Given the description of an element on the screen output the (x, y) to click on. 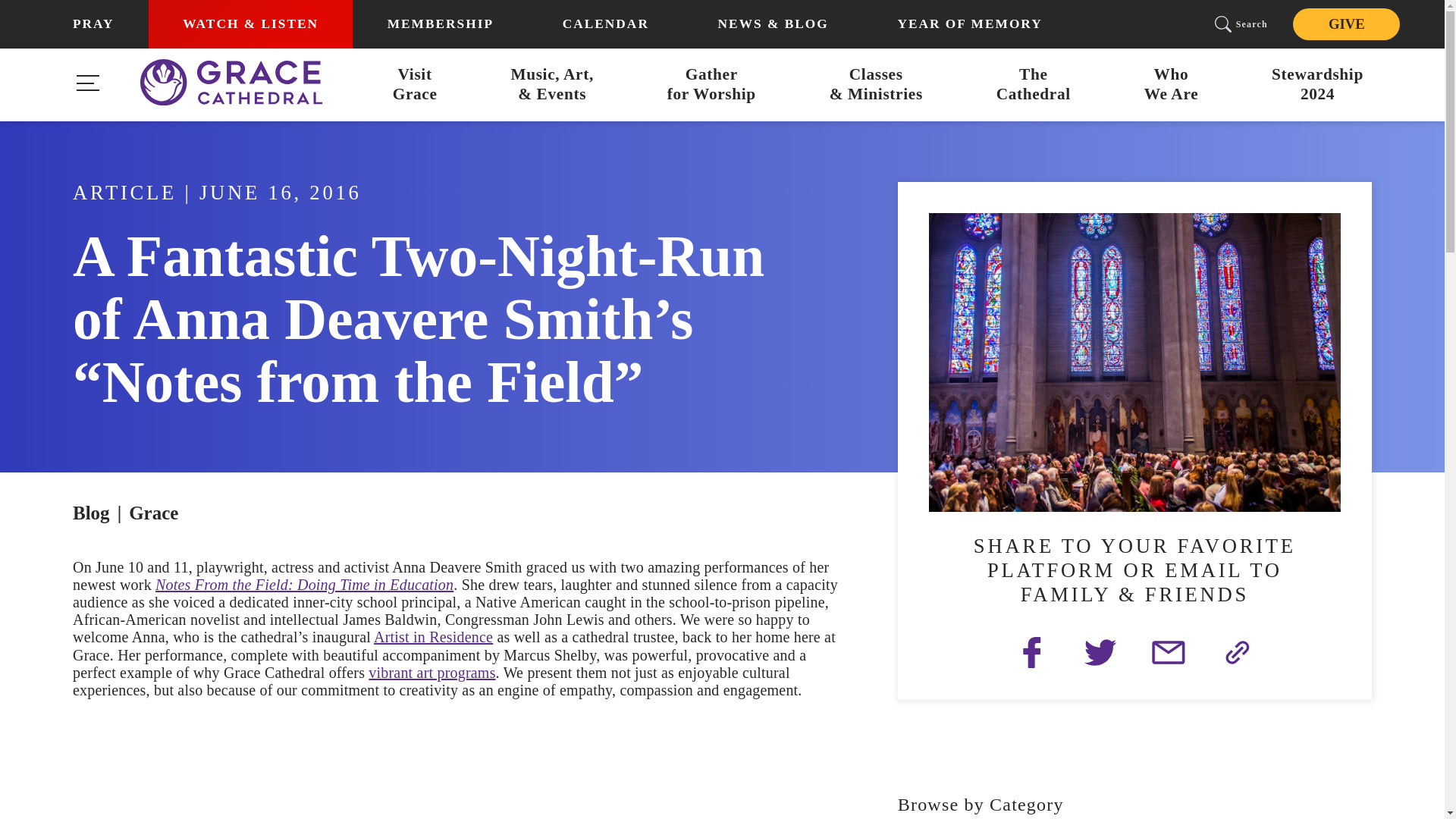
MEMBERSHIP (439, 24)
GIVE (1032, 84)
PRAY (1170, 84)
CALENDAR (1317, 84)
YEAR OF MEMORY (711, 84)
